Given the description of an element on the screen output the (x, y) to click on. 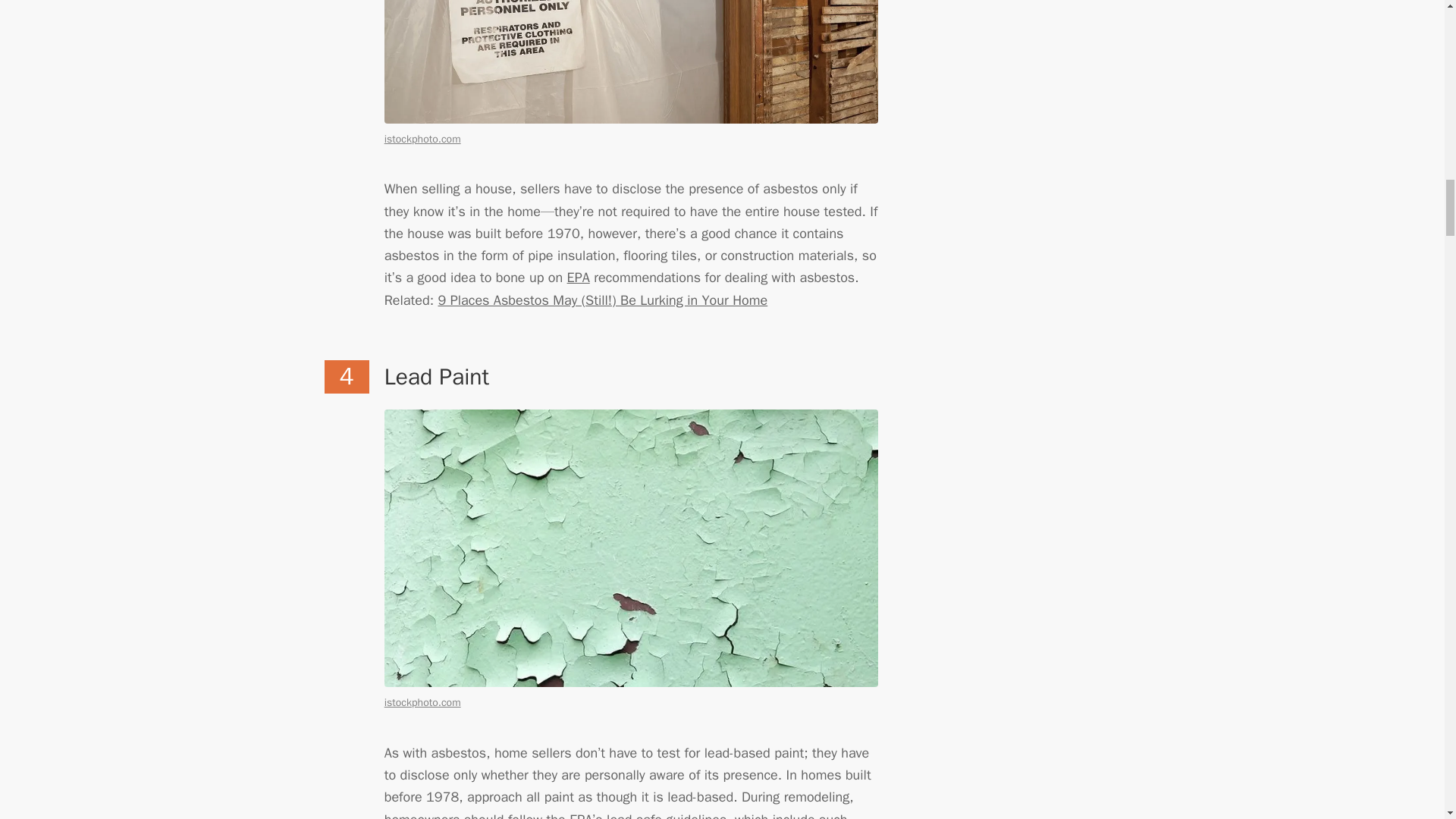
istockphoto.com (422, 702)
istockphoto.com (422, 138)
